Given the description of an element on the screen output the (x, y) to click on. 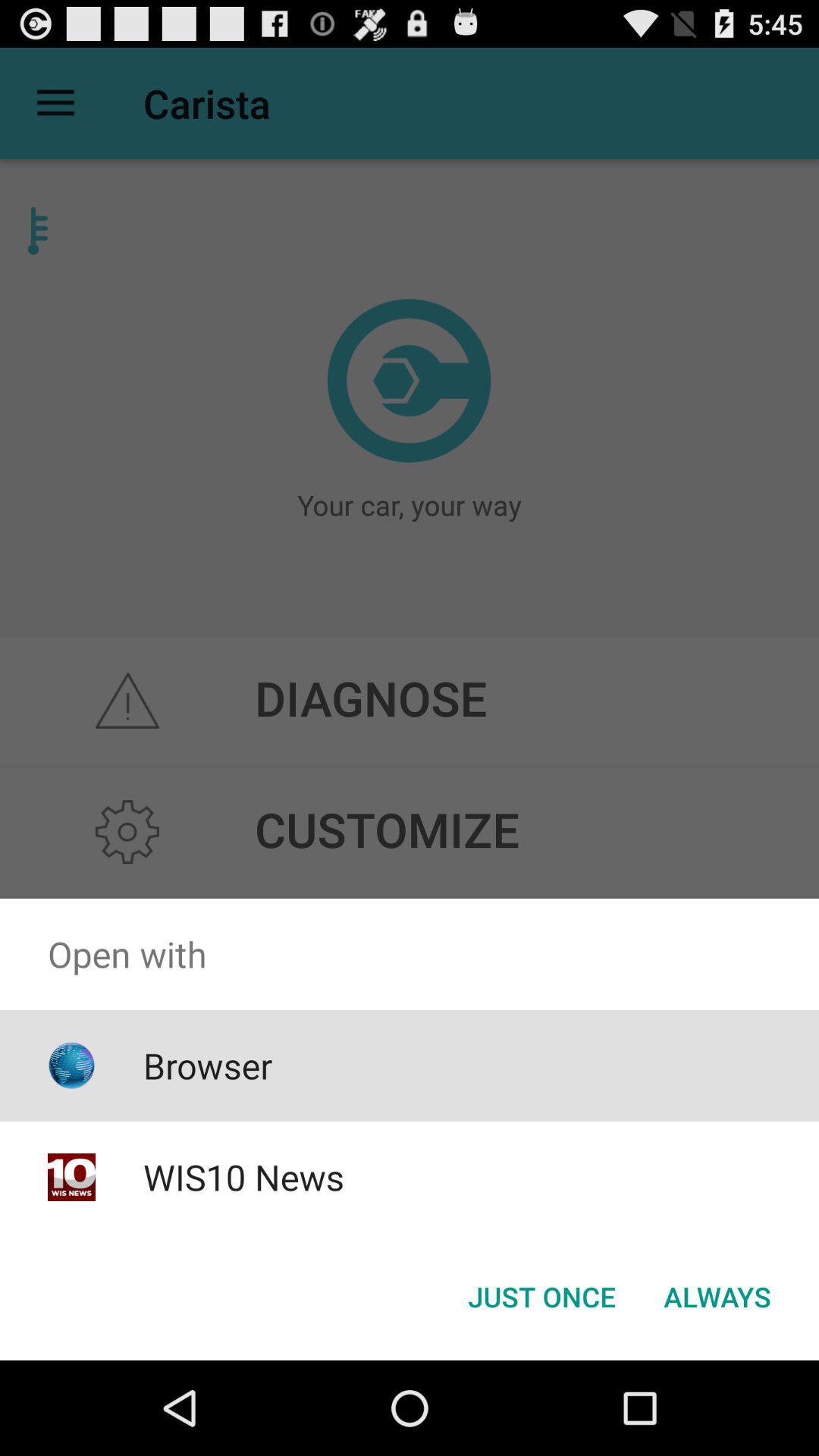
turn off button next to the always button (541, 1296)
